Given the description of an element on the screen output the (x, y) to click on. 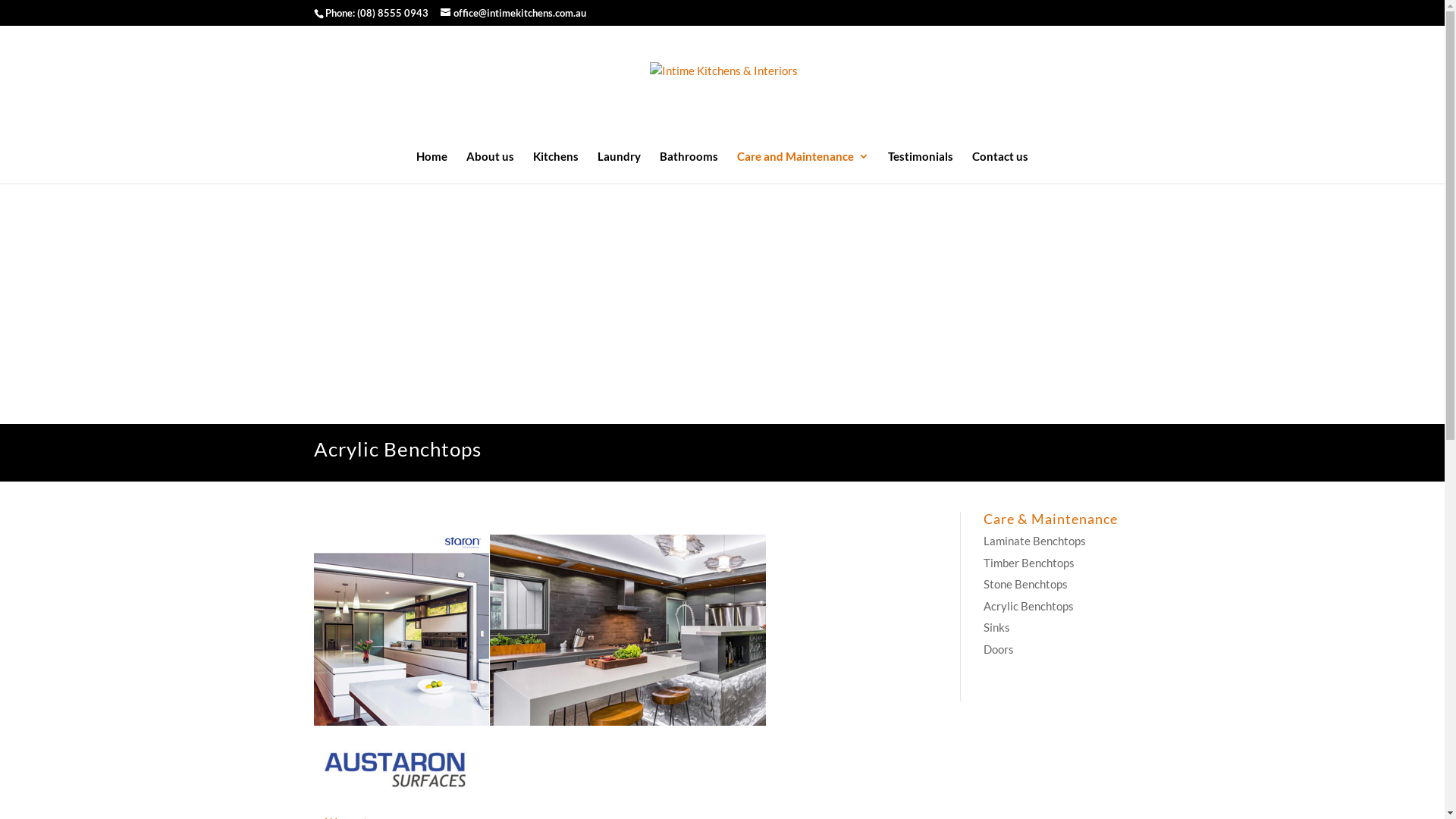
office@intimekitchens.com.au Element type: text (512, 12)
Testimonials Element type: text (920, 166)
Doors Element type: text (998, 648)
Contact us Element type: text (1000, 166)
Timber Benchtops Element type: text (1028, 561)
Sinks Element type: text (996, 626)
Home Element type: text (431, 166)
Kitchens Element type: text (555, 166)
Bathrooms Element type: text (688, 166)
Acrylic Benchtops Element type: text (1028, 605)
Laundry Element type: text (618, 166)
Laminate Benchtops Element type: text (1034, 540)
About us Element type: text (490, 166)
Care and Maintenance Element type: text (803, 166)
Stone Benchtops Element type: text (1025, 583)
